Given the description of an element on the screen output the (x, y) to click on. 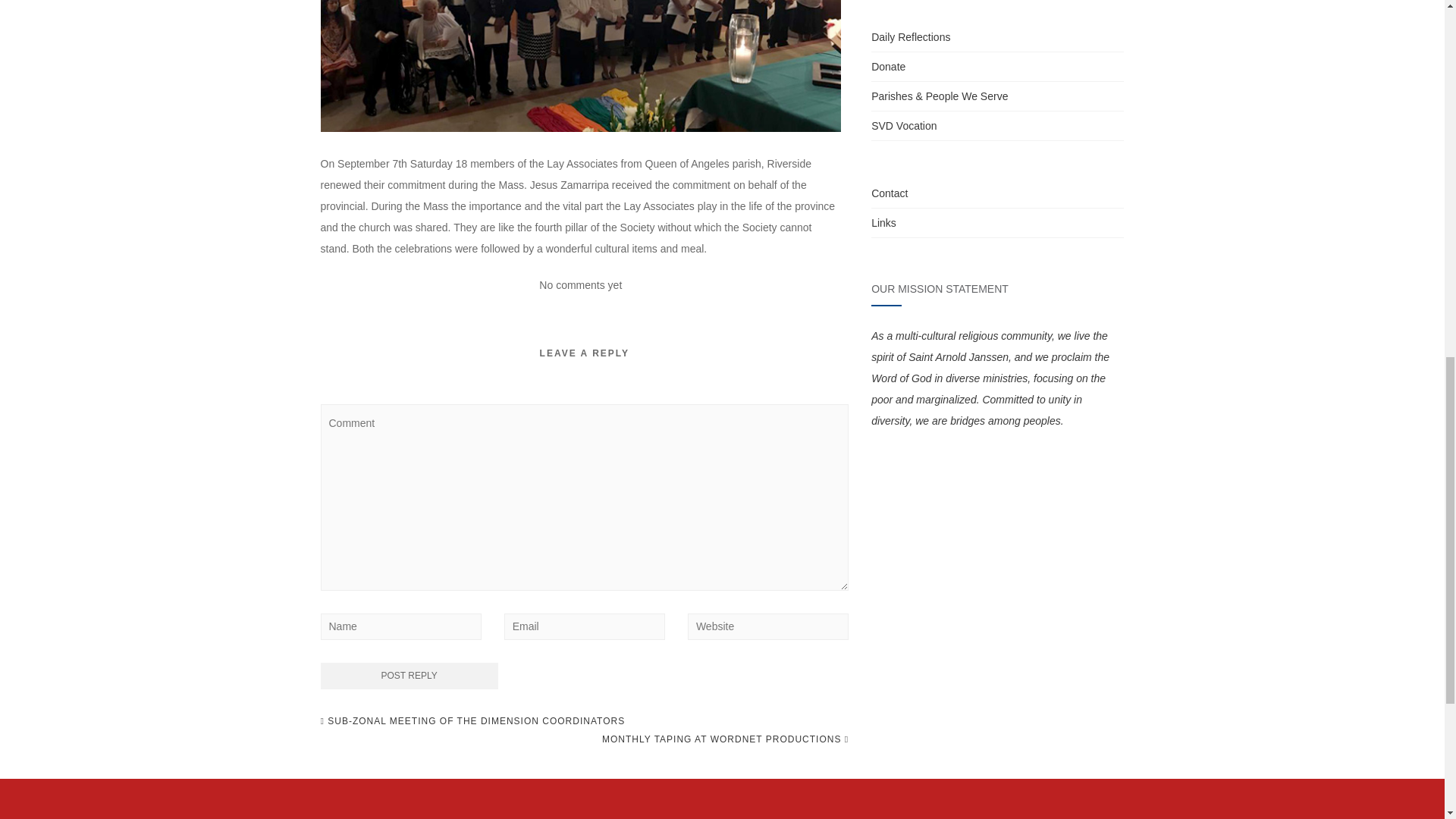
Post Reply (408, 675)
SUB-ZONAL MEETING OF THE DIMENSION COORDINATORS (472, 720)
MONTHLY TAPING AT WORDNET PRODUCTIONS (725, 739)
No comments yet (579, 285)
Daily Reflections (910, 37)
Post Reply (408, 675)
